Given the description of an element on the screen output the (x, y) to click on. 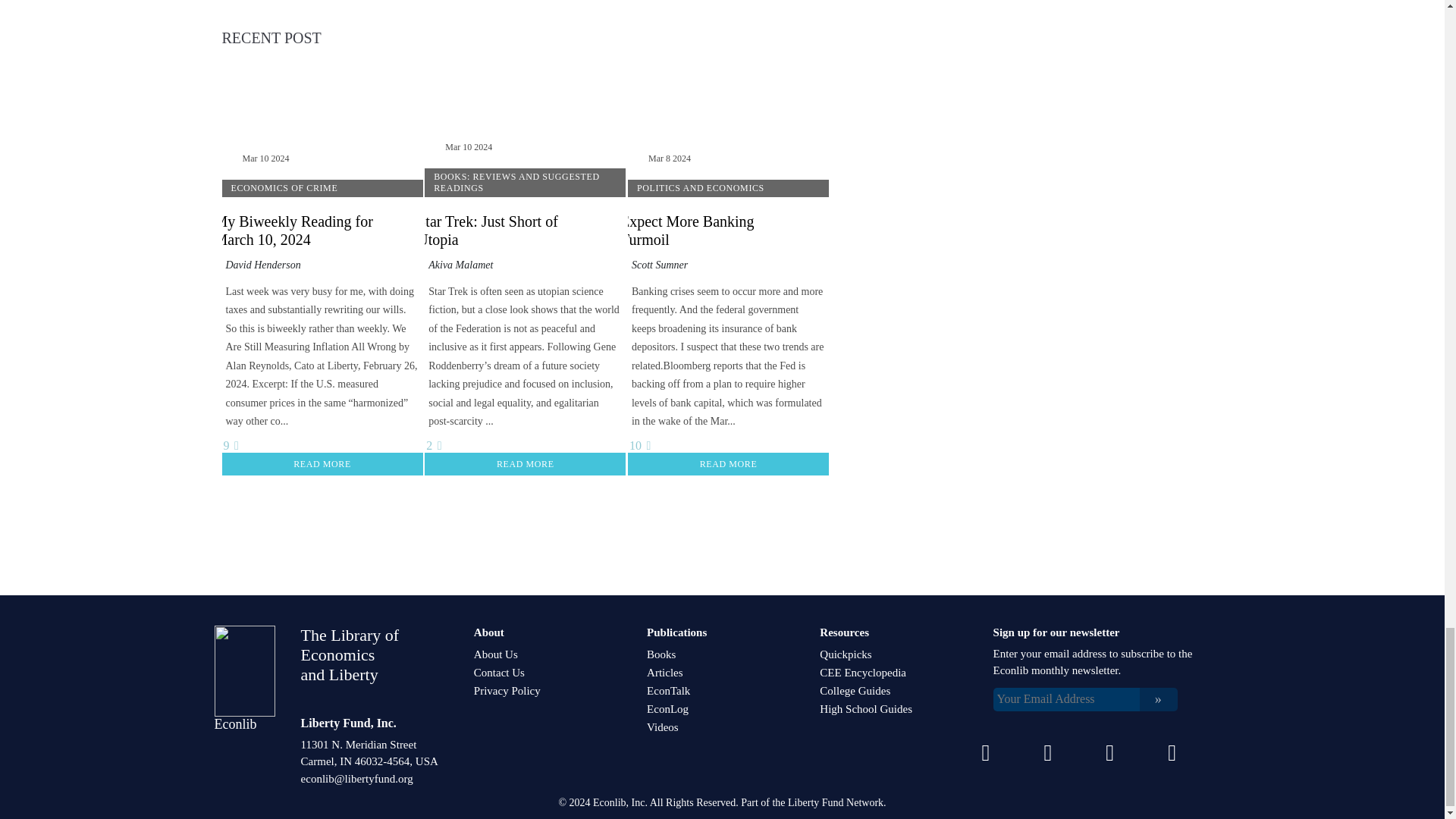
Scott Sumner (659, 265)
David Henderson (263, 265)
Akiva Malamet (460, 265)
